Given the description of an element on the screen output the (x, y) to click on. 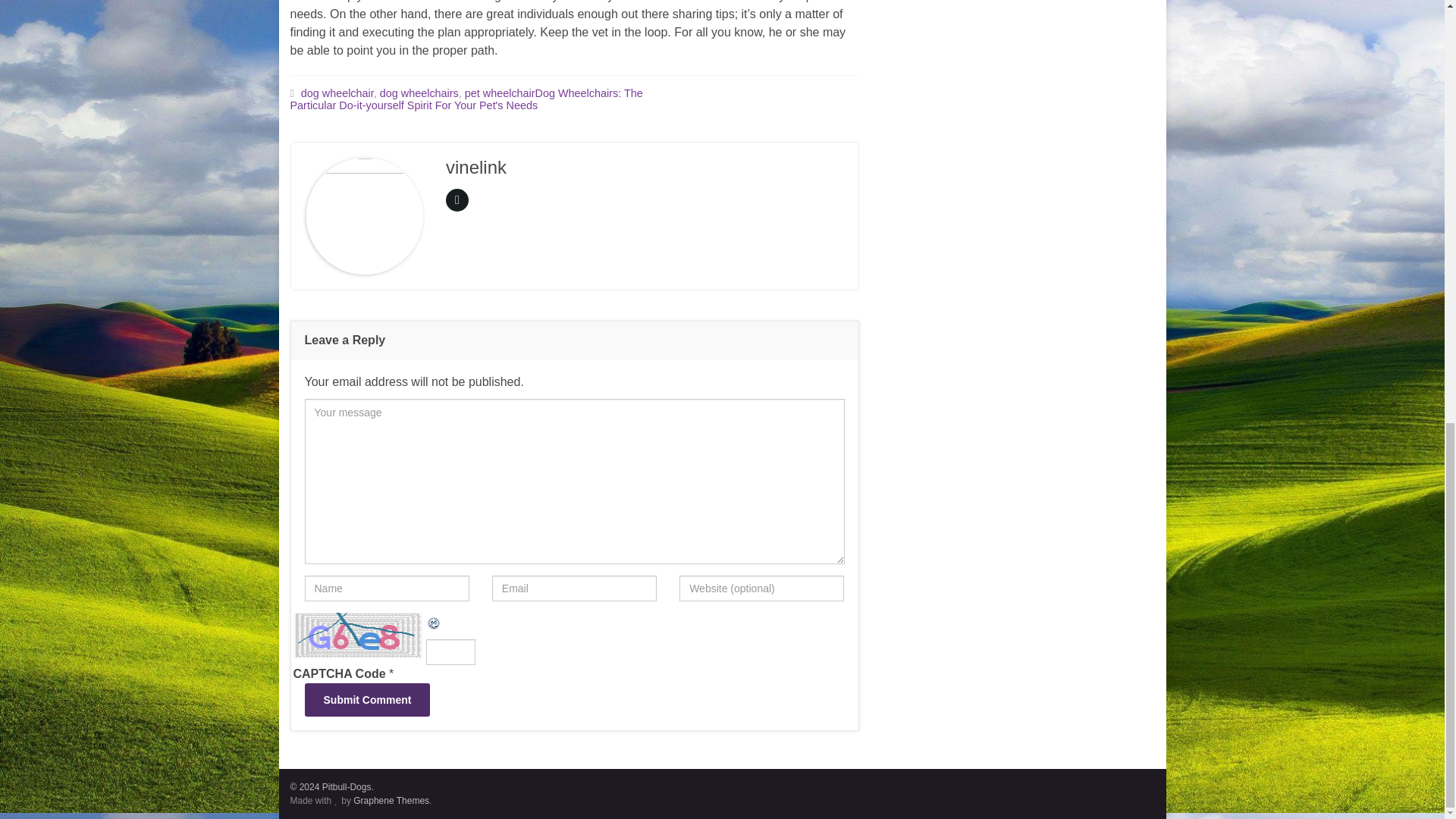
Refresh Image (434, 621)
Submit Comment (367, 699)
dog wheelchairs (419, 92)
dog wheelchair (337, 92)
Graphene Themes (391, 800)
CAPTCHA Image (358, 635)
Submit Comment (367, 699)
